Given the description of an element on the screen output the (x, y) to click on. 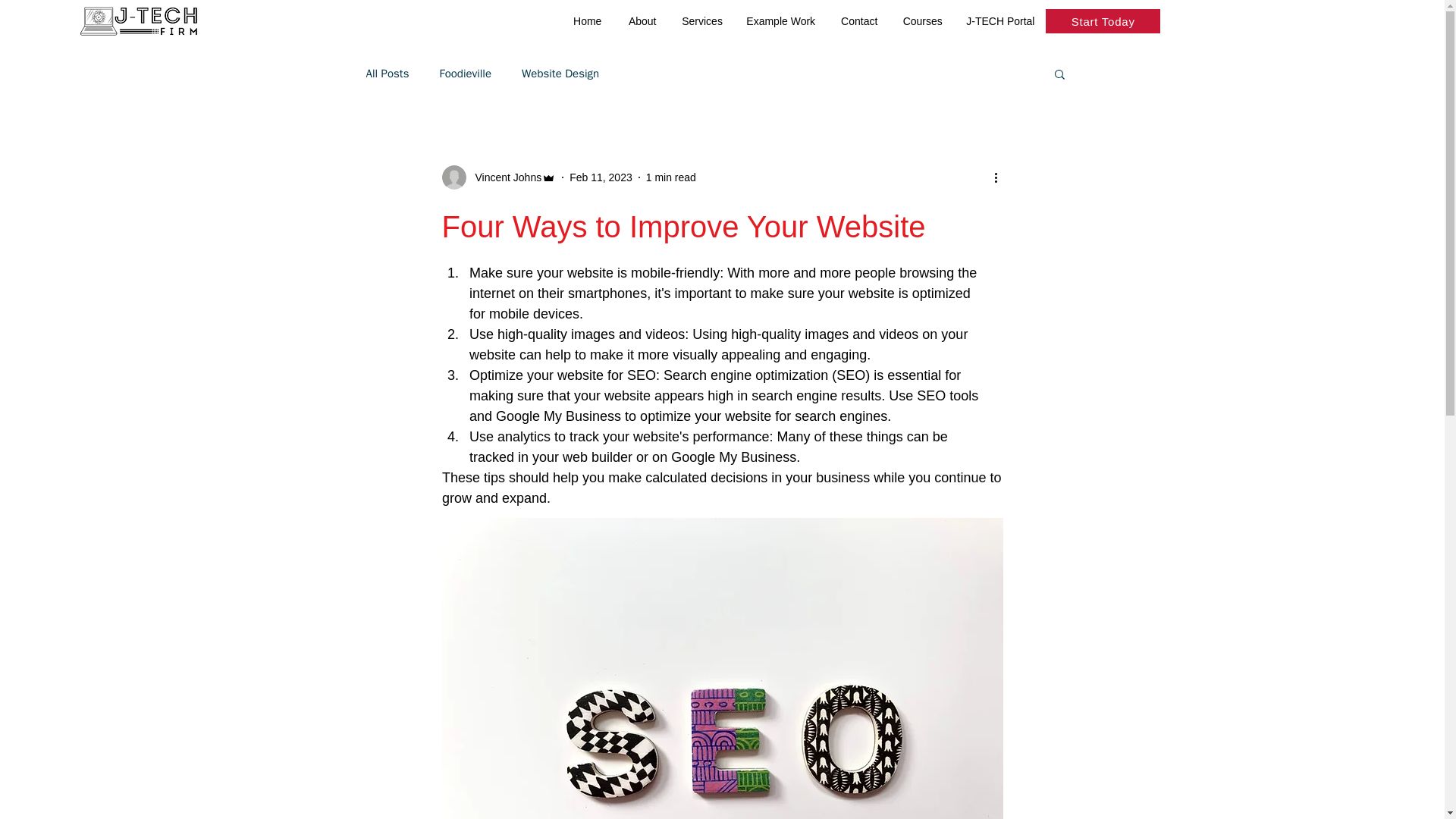
Courses (922, 21)
Services (701, 21)
Vincent Johns (503, 177)
1 min read (670, 177)
All Posts (387, 73)
Website Design (559, 73)
Home (587, 21)
Contact (858, 21)
Foodieville (465, 73)
Example Work (780, 21)
Start Today (1102, 21)
Feb 11, 2023 (600, 177)
About (641, 21)
Vincent Johns (498, 177)
